Given the description of an element on the screen output the (x, y) to click on. 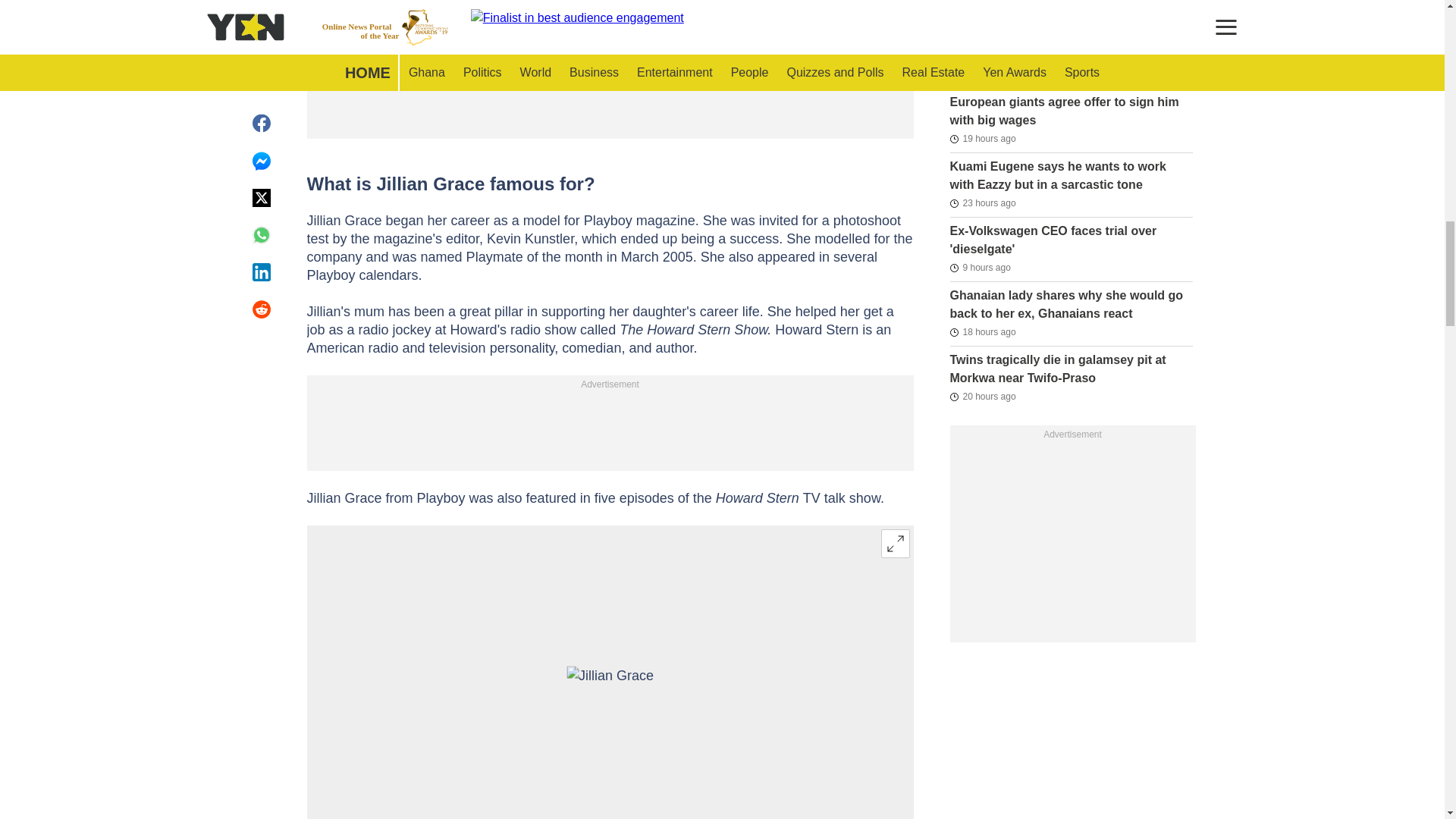
Jillian Grace (609, 696)
2024-09-03T02:32:04Z (979, 267)
2024-05-07T12:42:08Z (983, 11)
Expand image (895, 543)
2024-09-02T12:31:29Z (981, 203)
2024-09-02T17:04:26Z (981, 138)
